Given the description of an element on the screen output the (x, y) to click on. 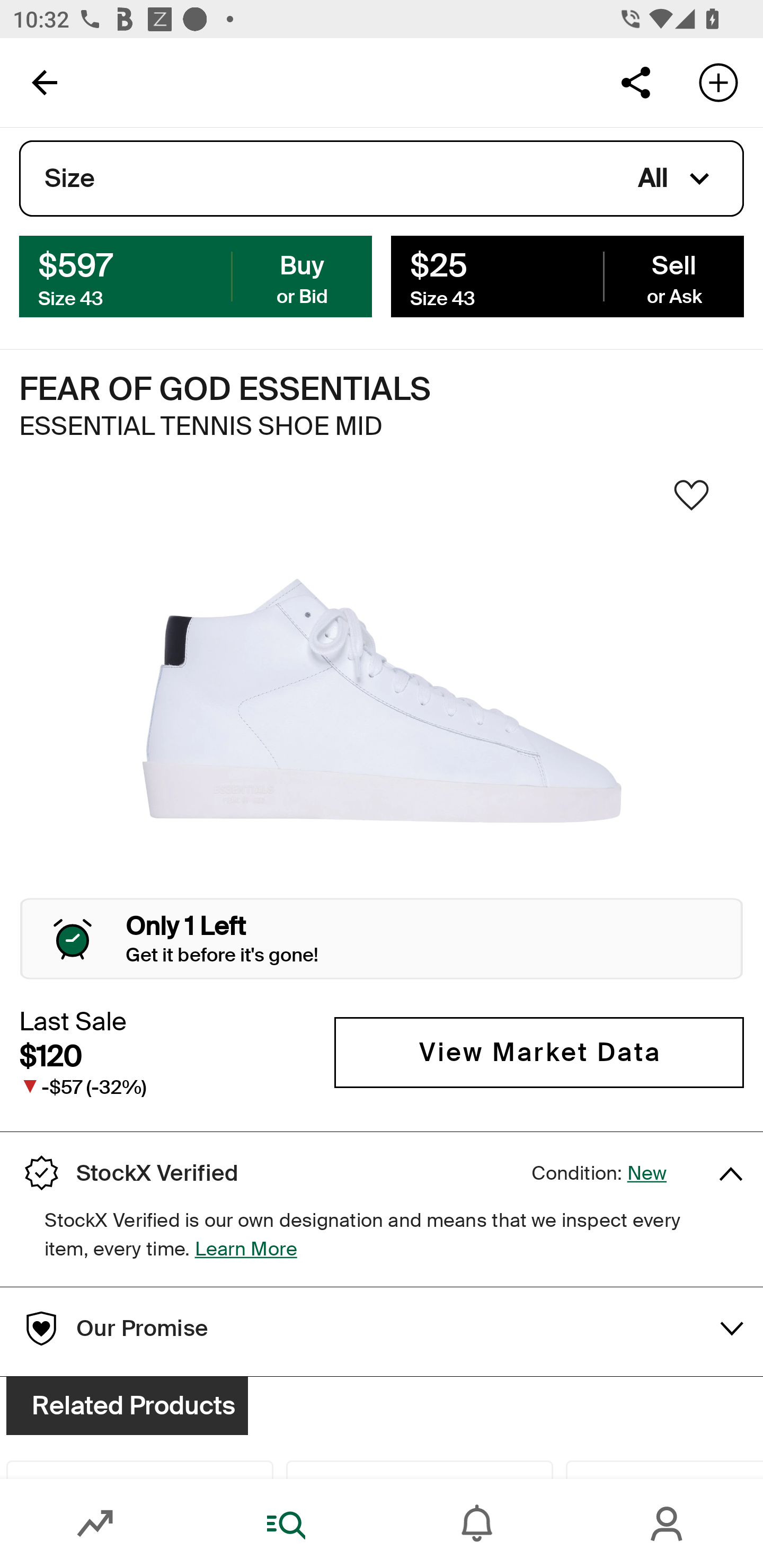
Share (635, 81)
Size All (381, 178)
$597 Buy Size 43 or Bid (195, 275)
$25 Sell Size 43 or Ask (566, 275)
Sneaker Image (381, 699)
View Market Data (538, 1052)
Market (95, 1523)
Inbox (476, 1523)
Account (667, 1523)
